Given the description of an element on the screen output the (x, y) to click on. 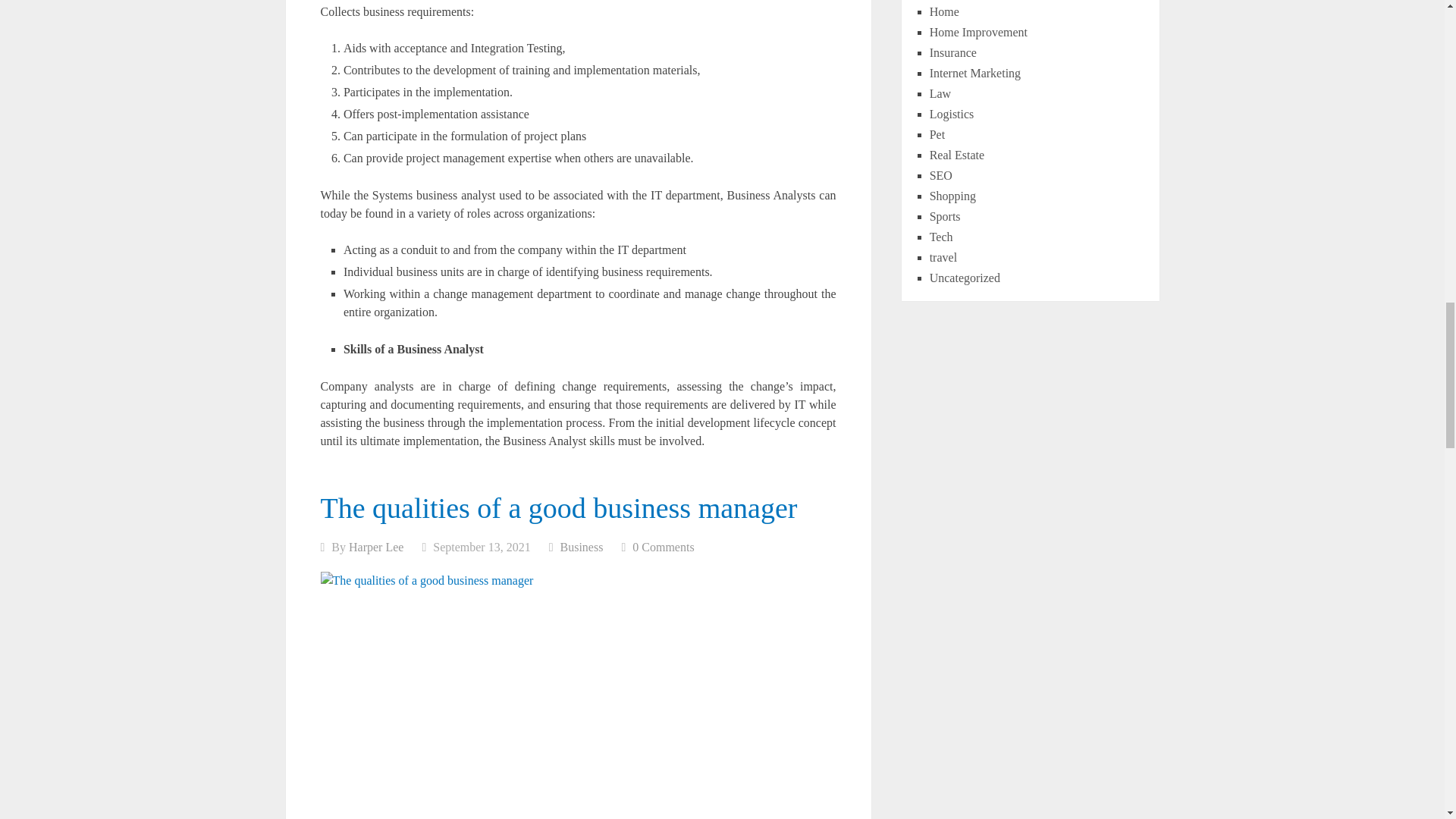
0 Comments (662, 545)
Harper Lee (376, 545)
Posts by Harper Lee (376, 545)
The qualities of a good business manager (577, 695)
The qualities of a good business manager (558, 508)
Business (582, 545)
The qualities of a good business manager (558, 508)
